Given the description of an element on the screen output the (x, y) to click on. 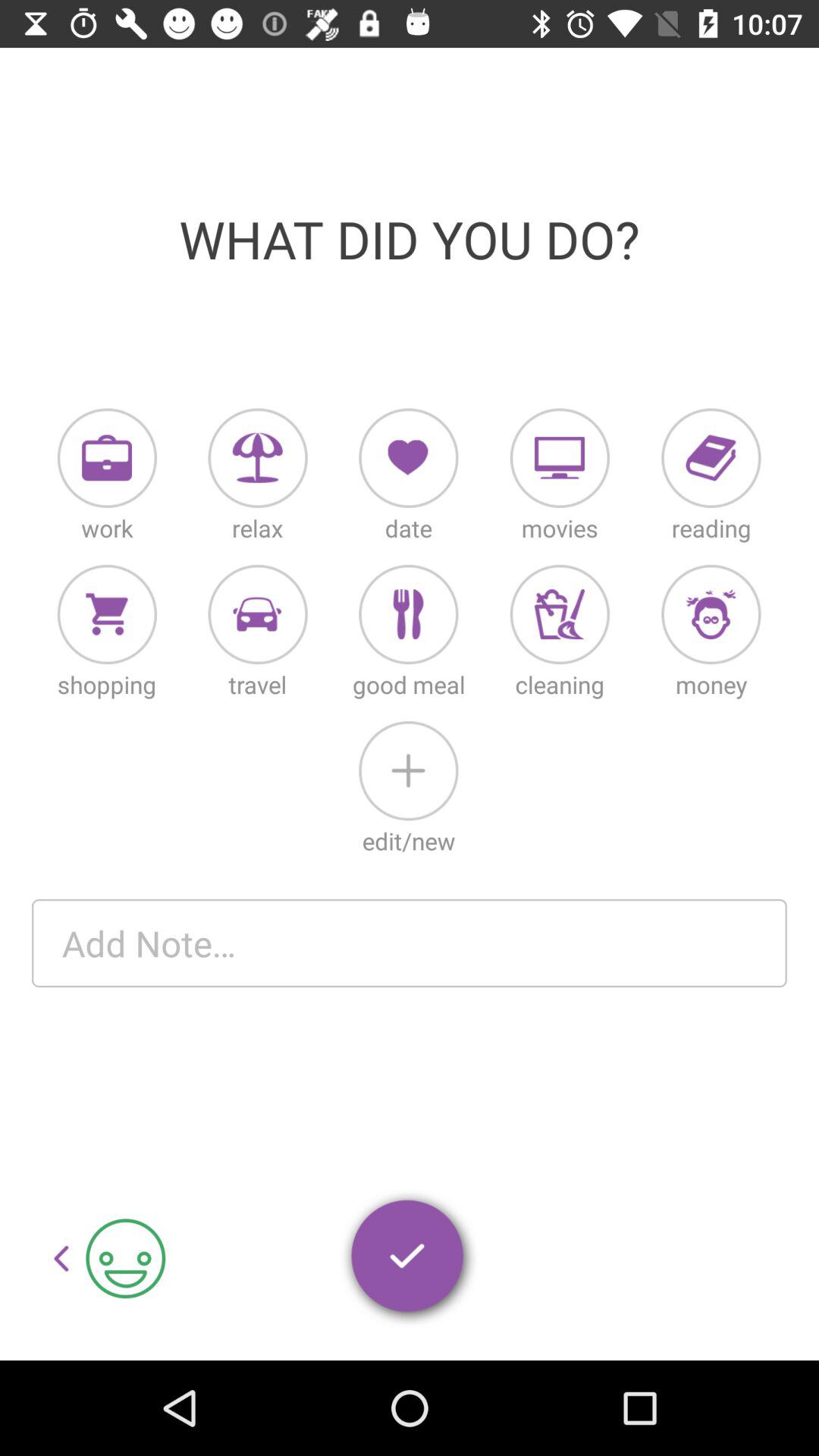
shows empty box (409, 943)
